Given the description of an element on the screen output the (x, y) to click on. 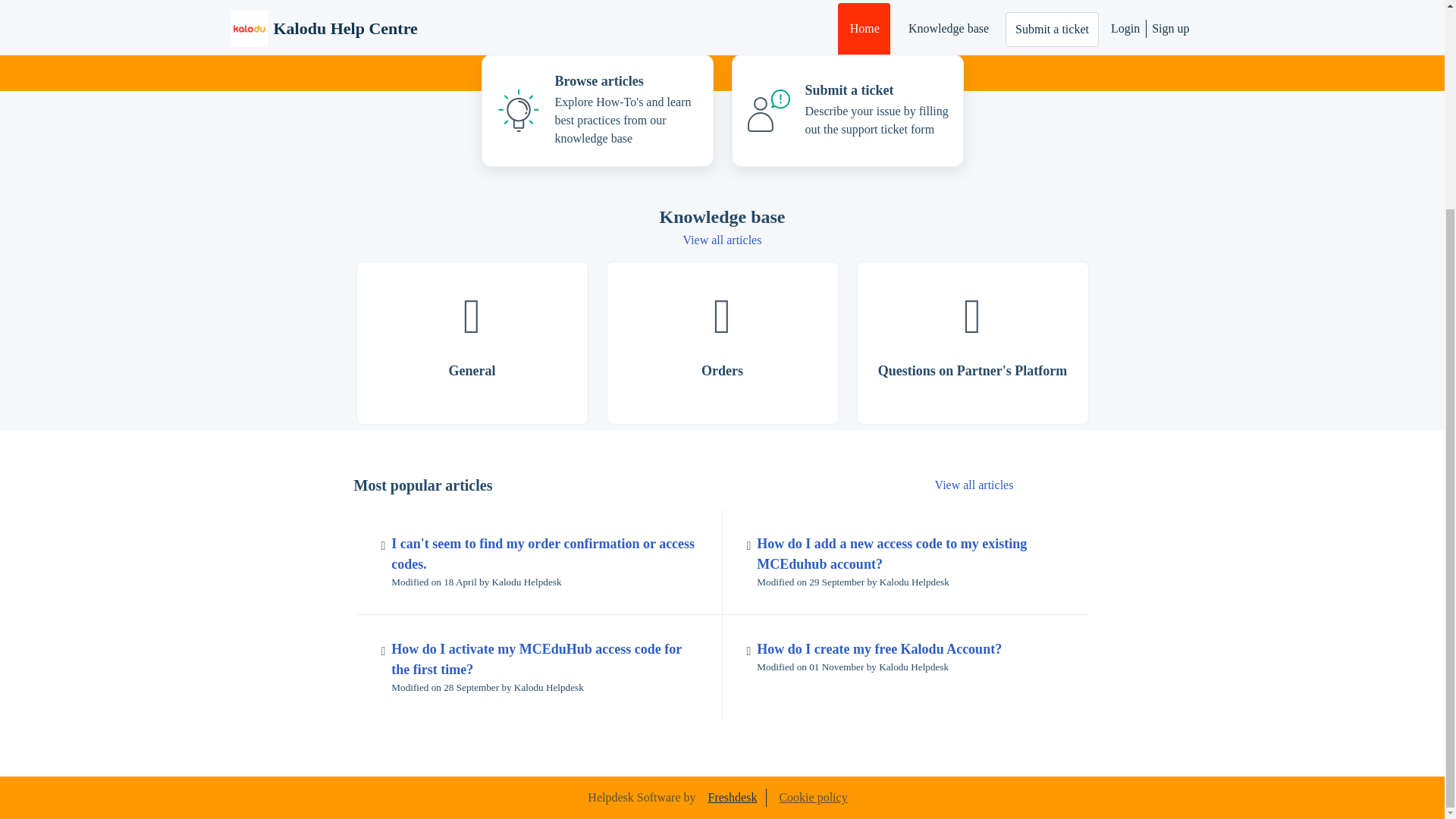
View all articles (973, 484)
Cookie policy (813, 797)
Questions on Partner's Platform (973, 343)
Orders (722, 343)
View all articles (721, 239)
General (472, 343)
Freshdesk (732, 797)
